Given the description of an element on the screen output the (x, y) to click on. 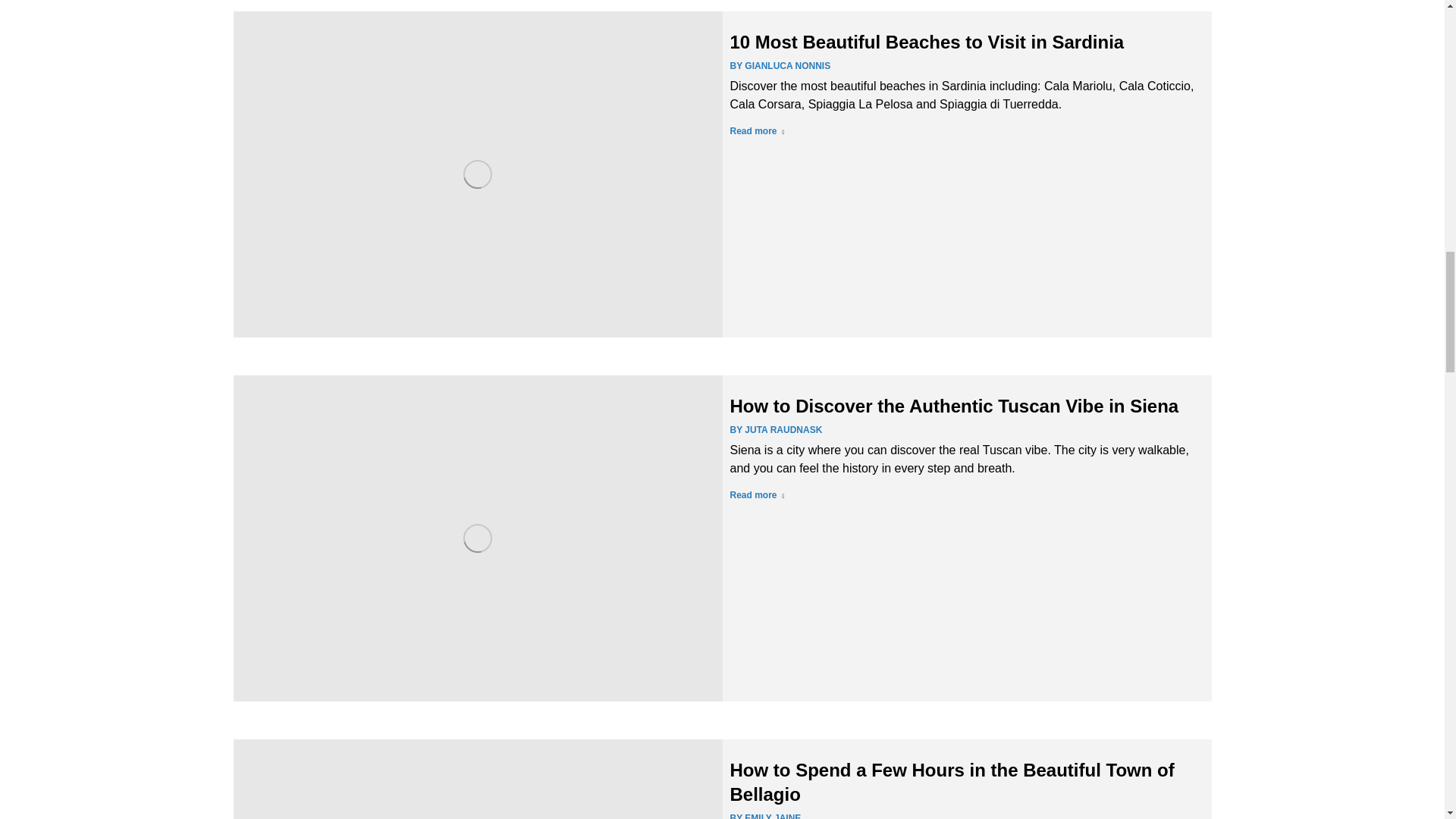
10 Most Beautiful Beaches to Visit in Sardinia (926, 41)
BY GIANLUCA NONNIS (779, 65)
10 Most Beautiful Beaches to Visit in Sardinia (926, 41)
How to Spend a Few Hours in the Beautiful Town of Bellagio (951, 782)
BY JUTA RAUDNASK (775, 429)
How to Spend a Few Hours in the Beautiful Town of Bellagio (951, 782)
BY EMILY JAINE (764, 814)
View all posts by Gianluca Nonnis (779, 65)
Read more (756, 497)
Read more (756, 134)
